Given the description of an element on the screen output the (x, y) to click on. 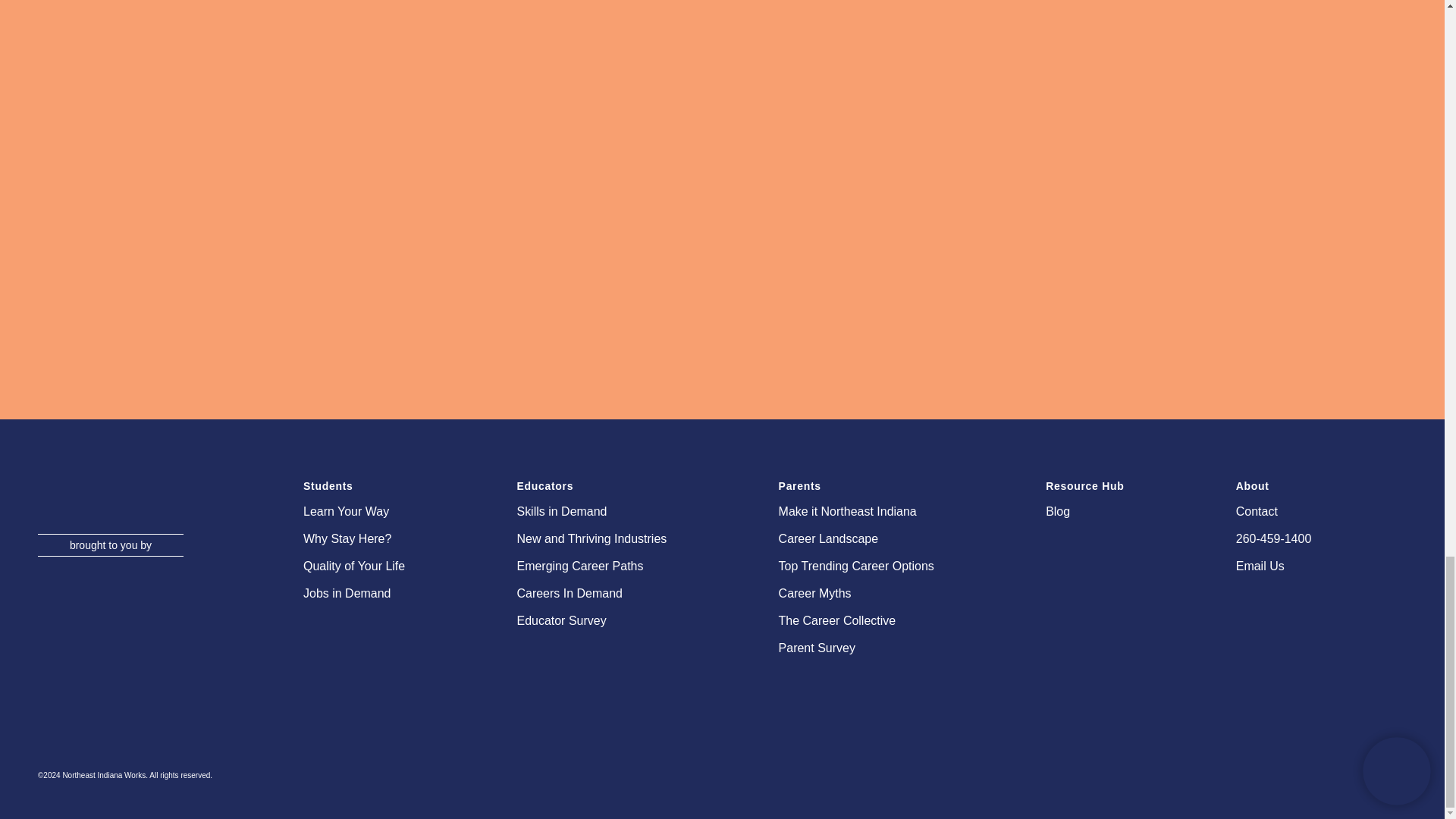
Top Trending Career Options (884, 566)
Students (381, 485)
Blog (1112, 511)
260-459-1400 (1311, 538)
Why Stay Here? (381, 538)
Make it Northeast Indiana (884, 511)
Educator Survey (618, 620)
The Career Collective (884, 620)
Email Us (1311, 566)
Parent Survey (884, 648)
